Given the description of an element on the screen output the (x, y) to click on. 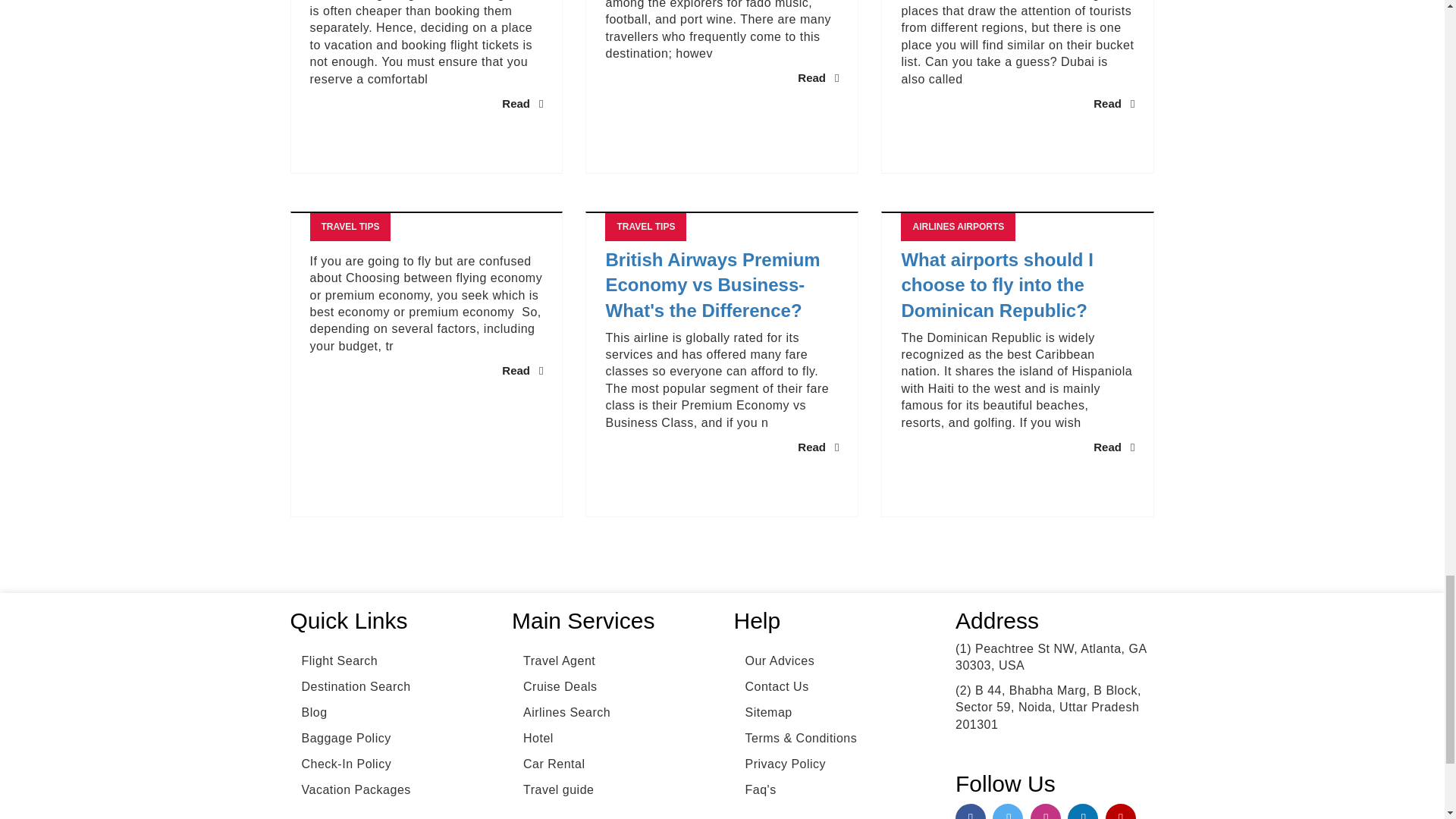
Read (522, 103)
Read (1113, 446)
Destination Search (349, 687)
Read (1113, 103)
Read (817, 77)
Flight Search (333, 660)
Read (817, 446)
Read (522, 370)
